Given the description of an element on the screen output the (x, y) to click on. 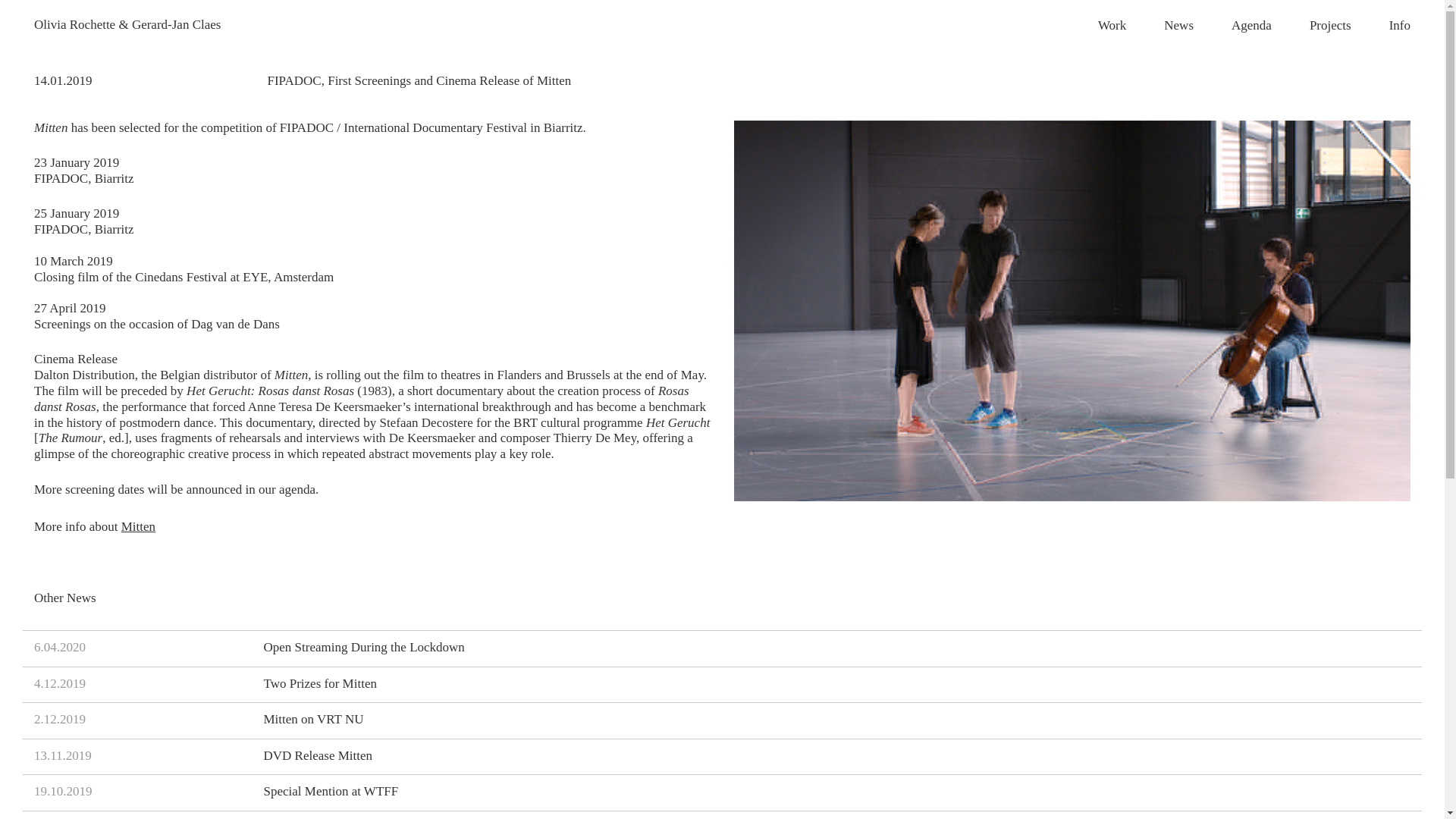
Info (721, 719)
Projects (1399, 25)
Mitten (1329, 25)
Skip to main content (721, 755)
News (137, 526)
